Given the description of an element on the screen output the (x, y) to click on. 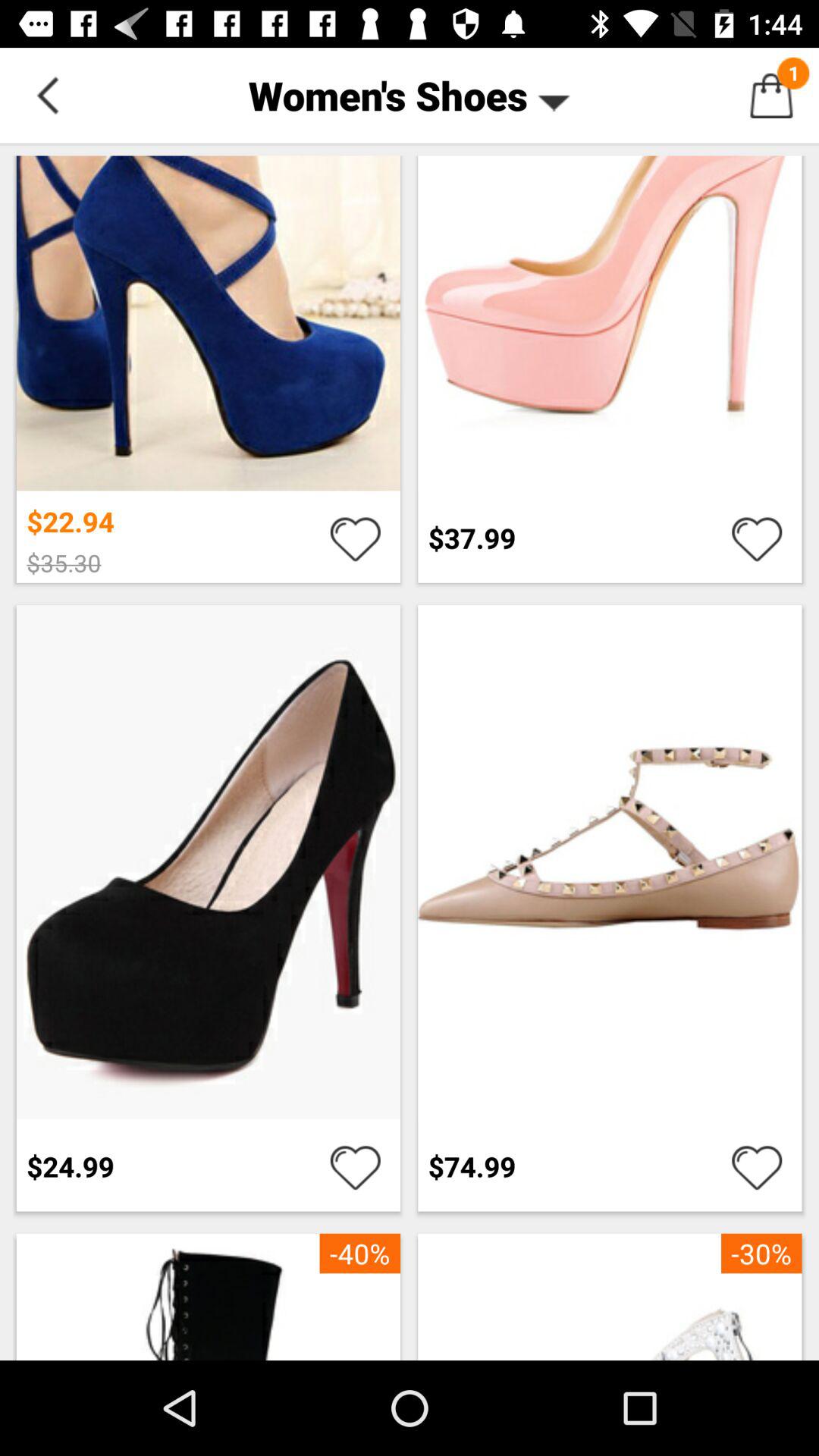
like (756, 537)
